Given the description of an element on the screen output the (x, y) to click on. 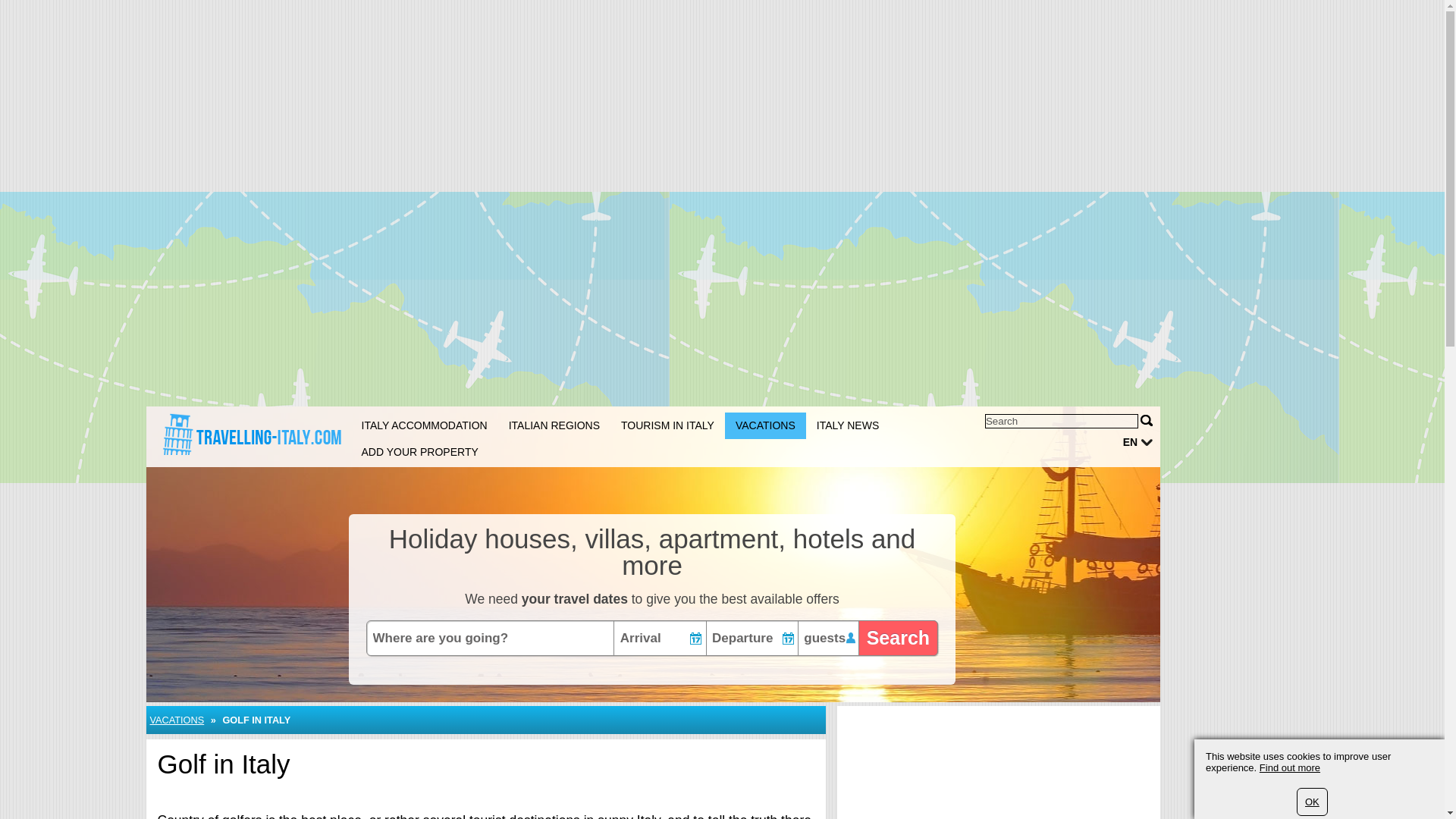
ADD YOUR PROPERTY (418, 452)
guests (828, 637)
Where are you going? (486, 637)
VACATIONS (765, 425)
OK (1312, 801)
ITALIAN REGIONS (553, 425)
Departure (751, 637)
TOURISM IN ITALY (667, 425)
ITALY ACCOMMODATION (423, 425)
